Given the description of an element on the screen output the (x, y) to click on. 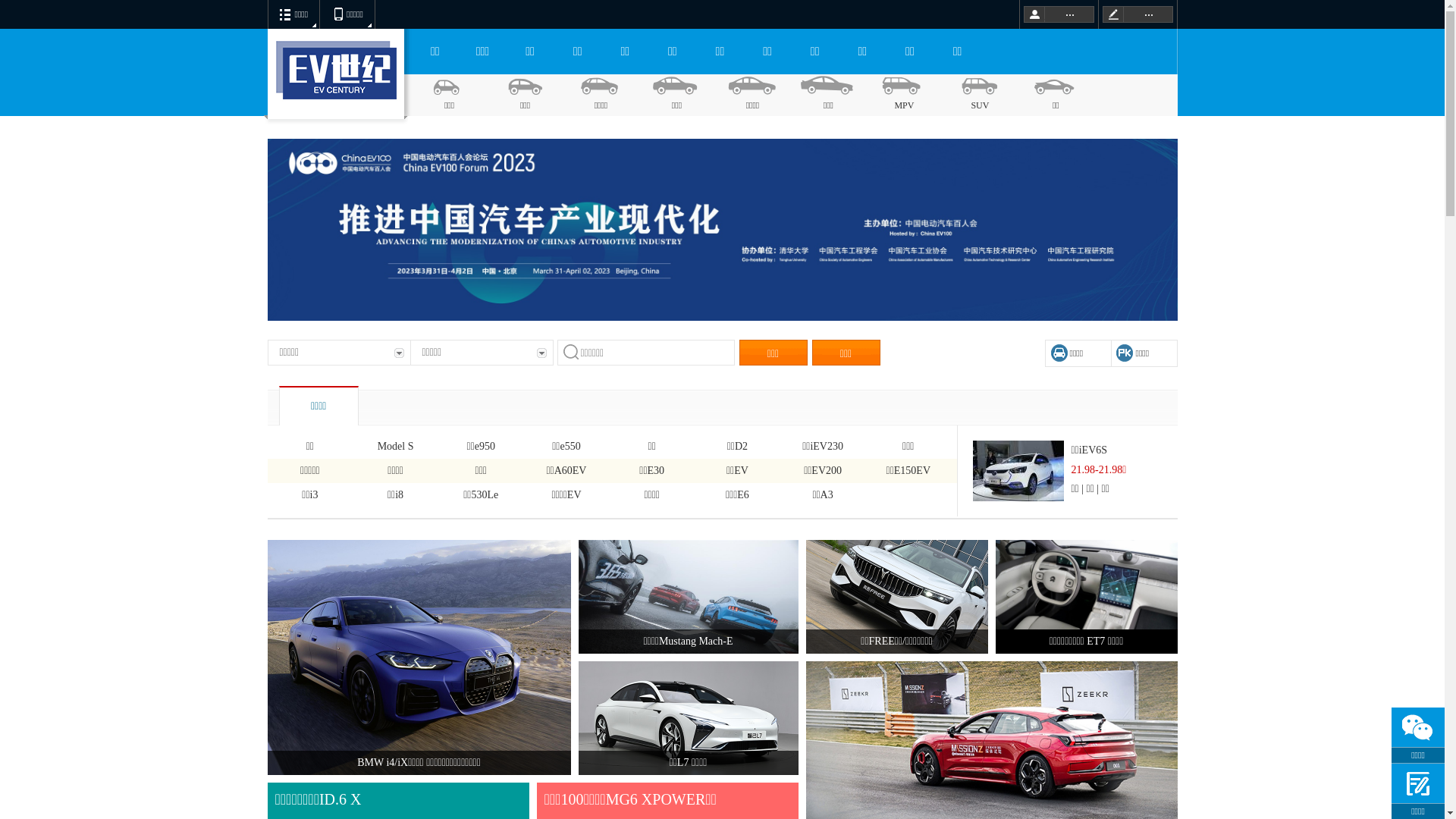
   Element type: text (1058, 14)
0 Element type: text (26, 28)
Model S Element type: text (395, 446)
SUV Element type: text (979, 95)
   Element type: text (1137, 14)
MPV Element type: text (903, 95)
